Given the description of an element on the screen output the (x, y) to click on. 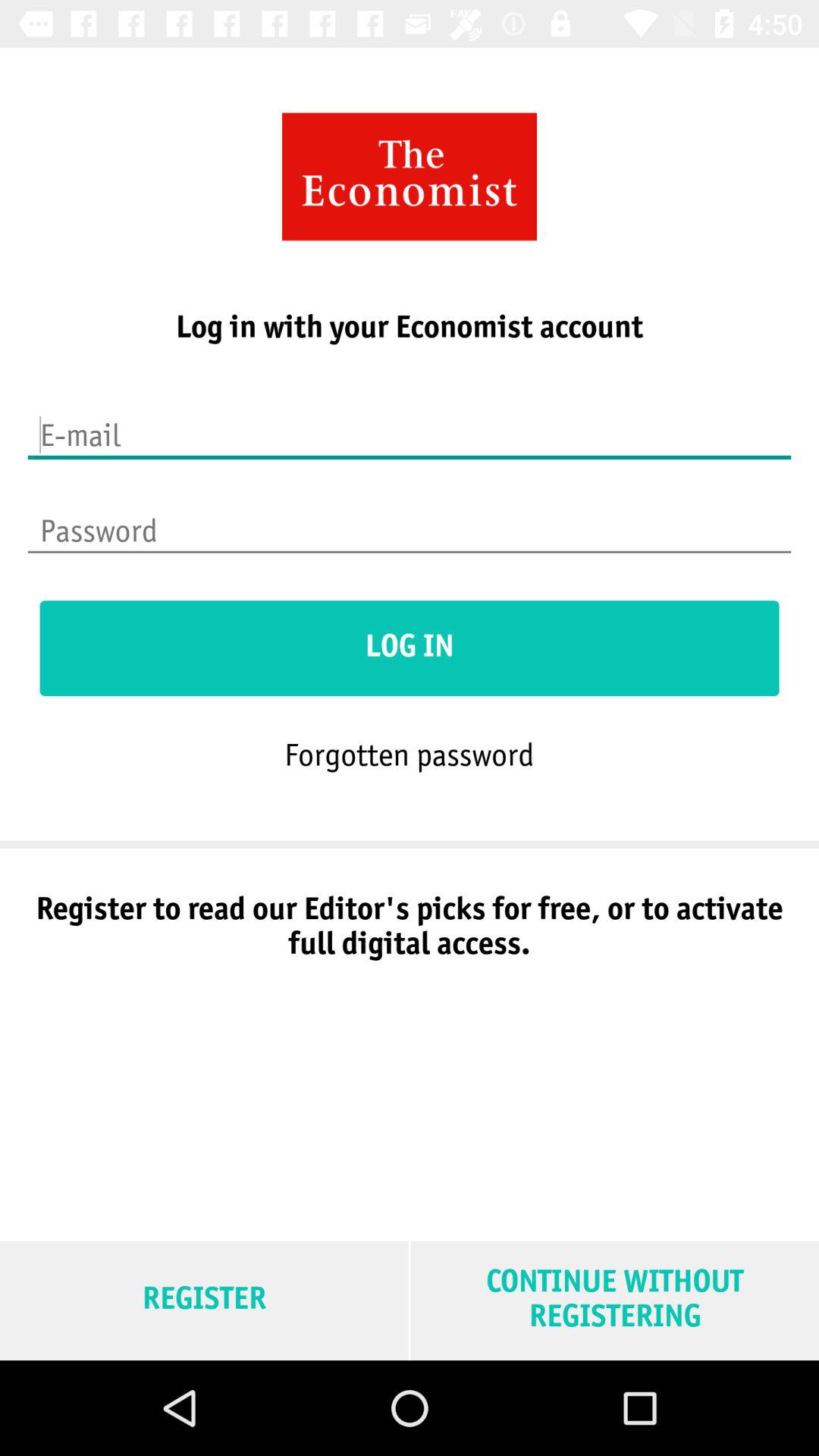
inserir e-mail (409, 425)
